Given the description of an element on the screen output the (x, y) to click on. 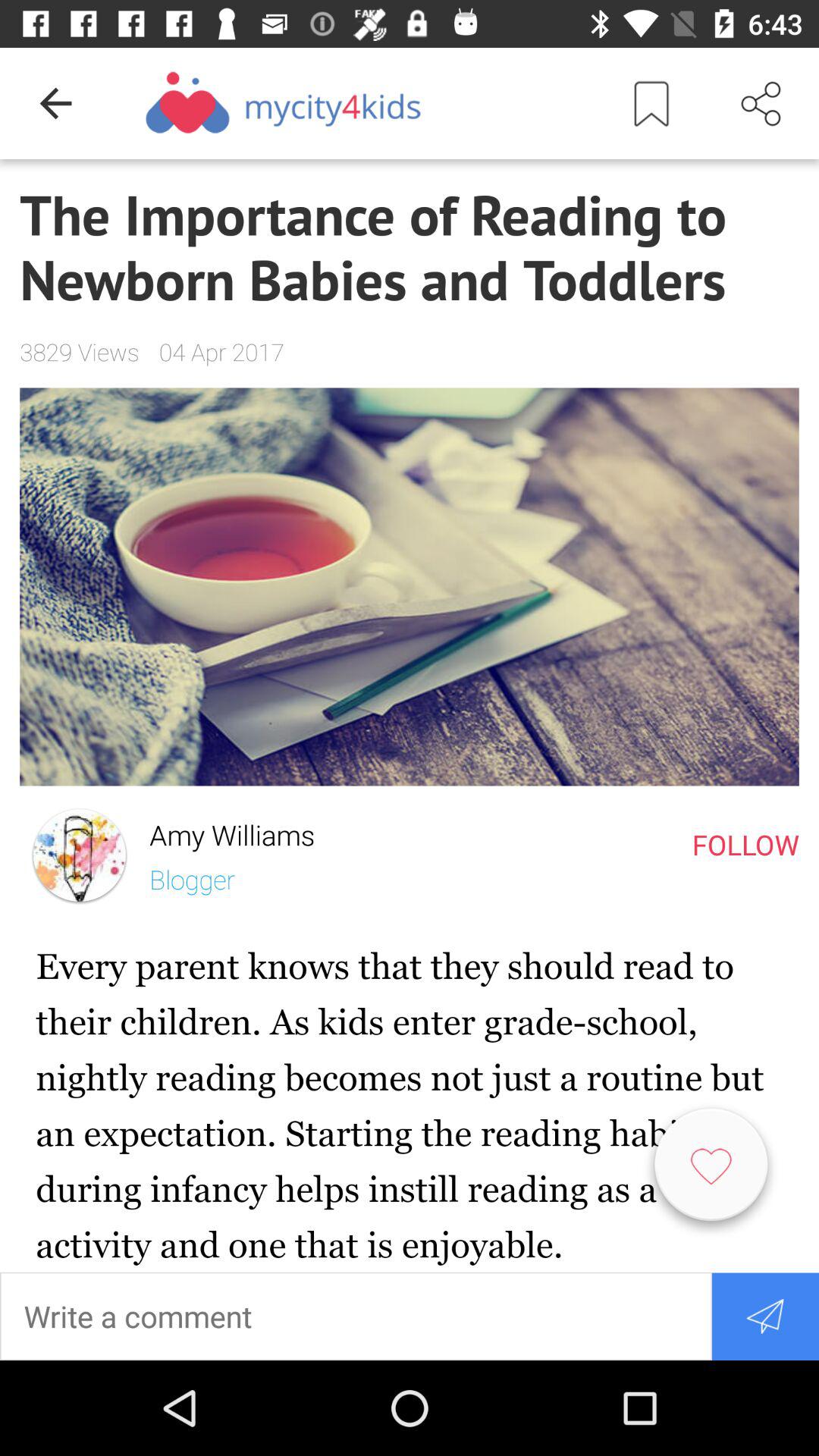
launch the follow item (745, 844)
